Given the description of an element on the screen output the (x, y) to click on. 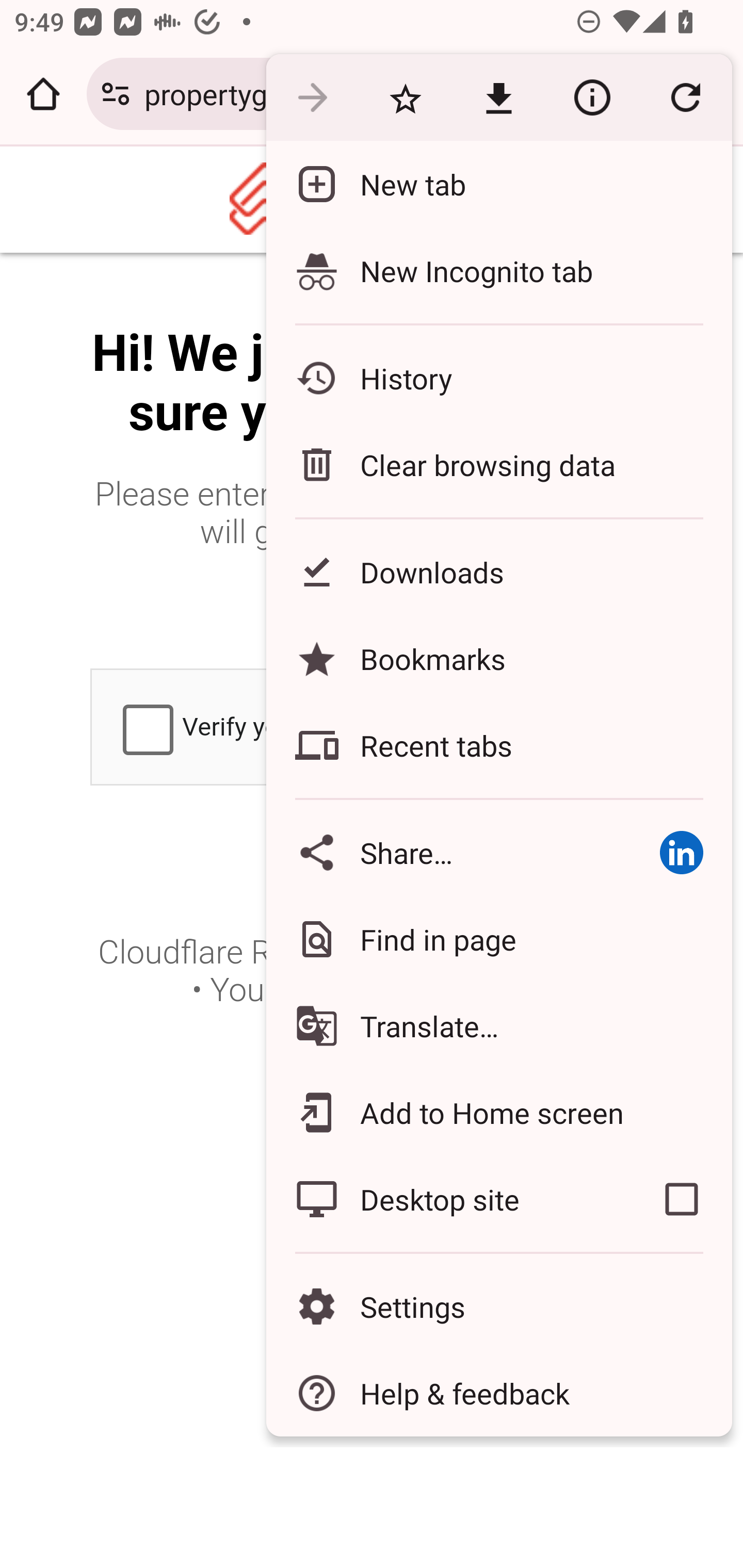
Forward (311, 97)
Bookmark (404, 97)
Download (498, 97)
Page info (591, 97)
Refresh (684, 97)
New tab (498, 184)
New Incognito tab (498, 270)
History (498, 377)
Clear browsing data (498, 464)
Downloads (498, 571)
Bookmarks (498, 658)
Recent tabs (498, 745)
Share… (447, 852)
Share via Share in a post (680, 852)
Find in page (498, 939)
Translate… (498, 1026)
Add to Home screen (498, 1112)
Desktop site Turn on Request desktop site (447, 1198)
Settings (498, 1306)
Help & feedback (498, 1393)
